Given the description of an element on the screen output the (x, y) to click on. 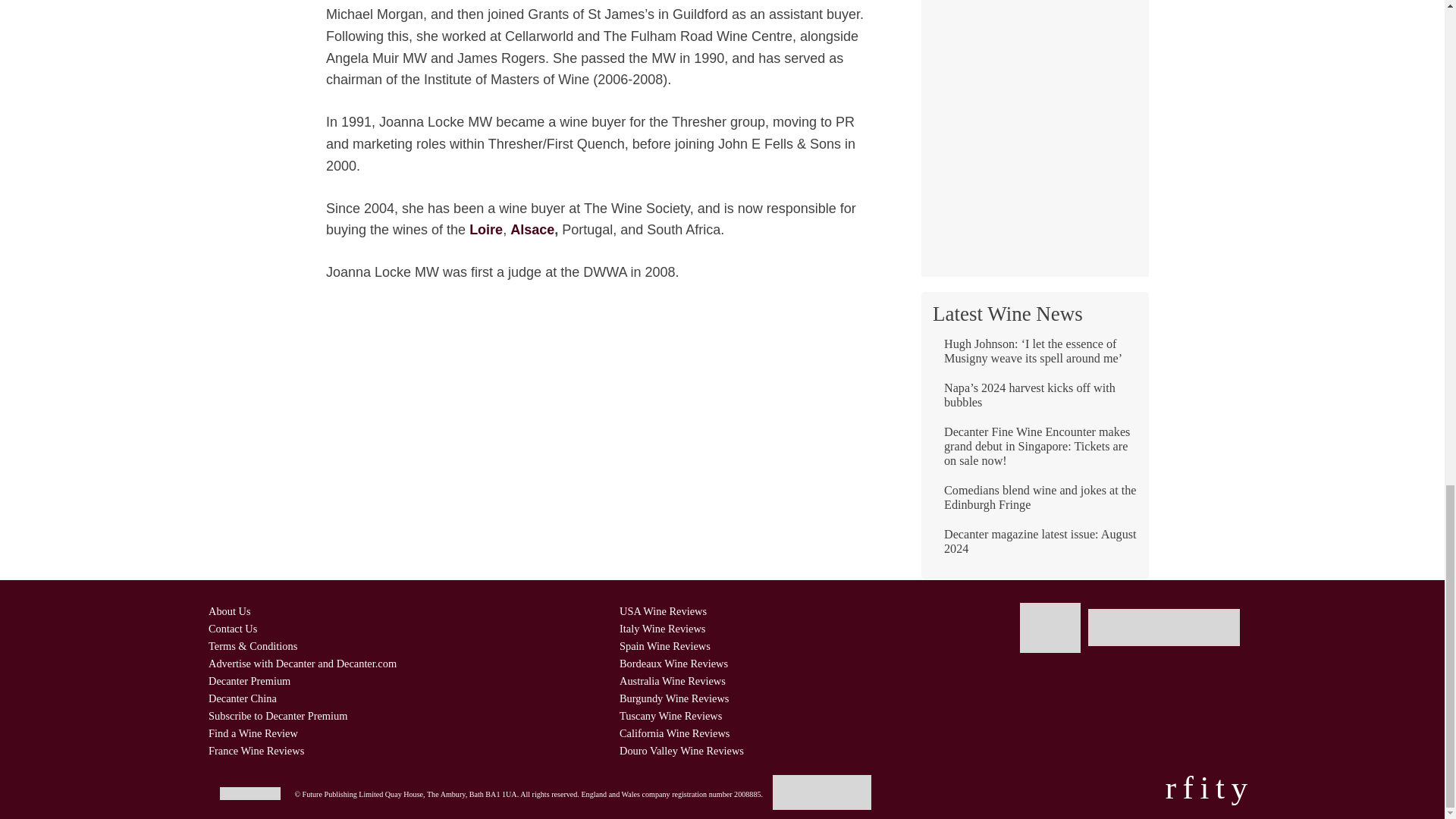
Comedians blend wine and jokes at the Edinburgh Fringe (1035, 504)
Decanter magazine latest issue: August 2024 (1035, 547)
